Given the description of an element on the screen output the (x, y) to click on. 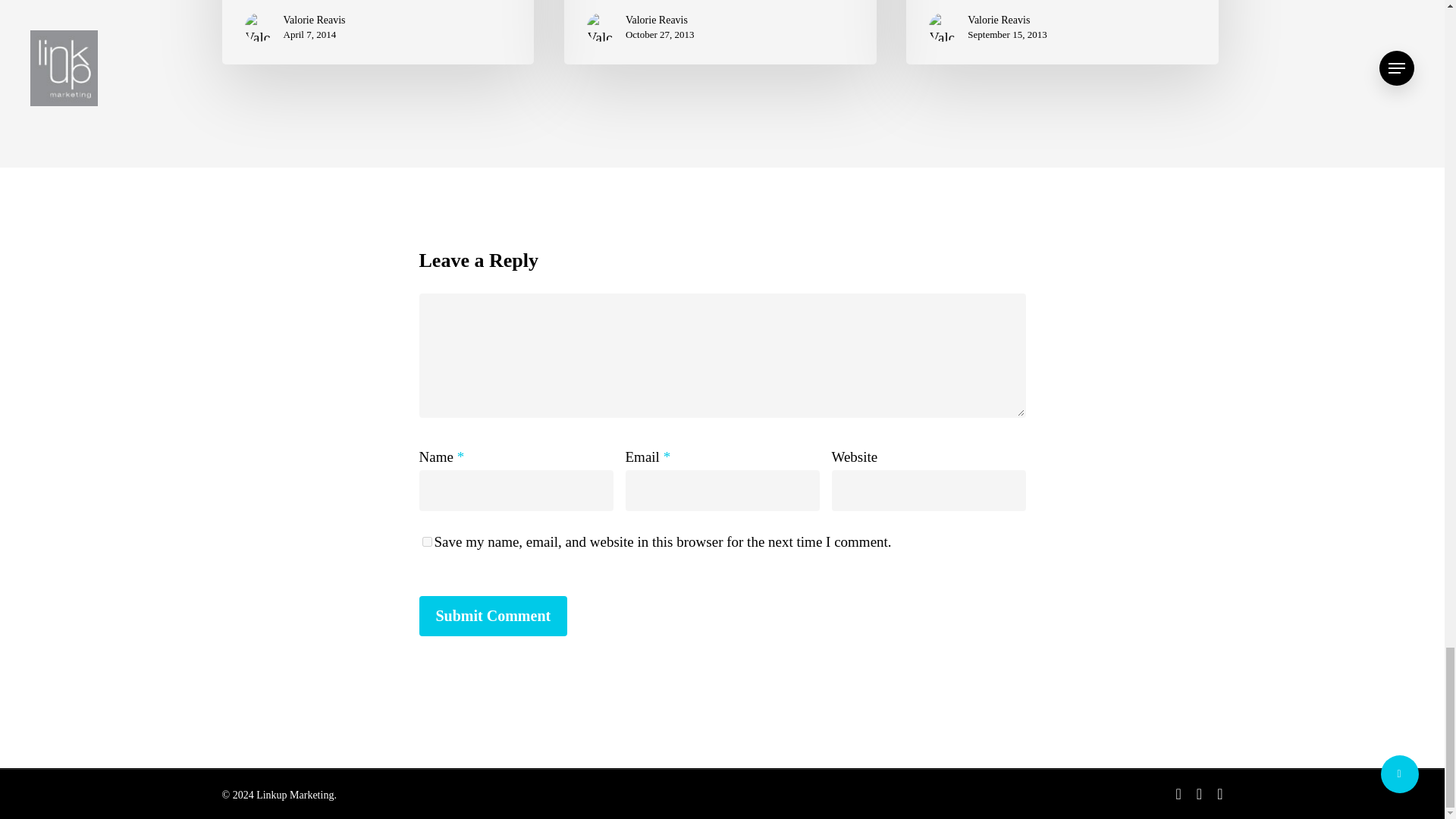
Valorie Reavis (660, 20)
Submit Comment (493, 616)
yes (426, 542)
Valorie Reavis (314, 20)
Submit Comment (493, 616)
Valorie Reavis (1007, 20)
